Given the description of an element on the screen output the (x, y) to click on. 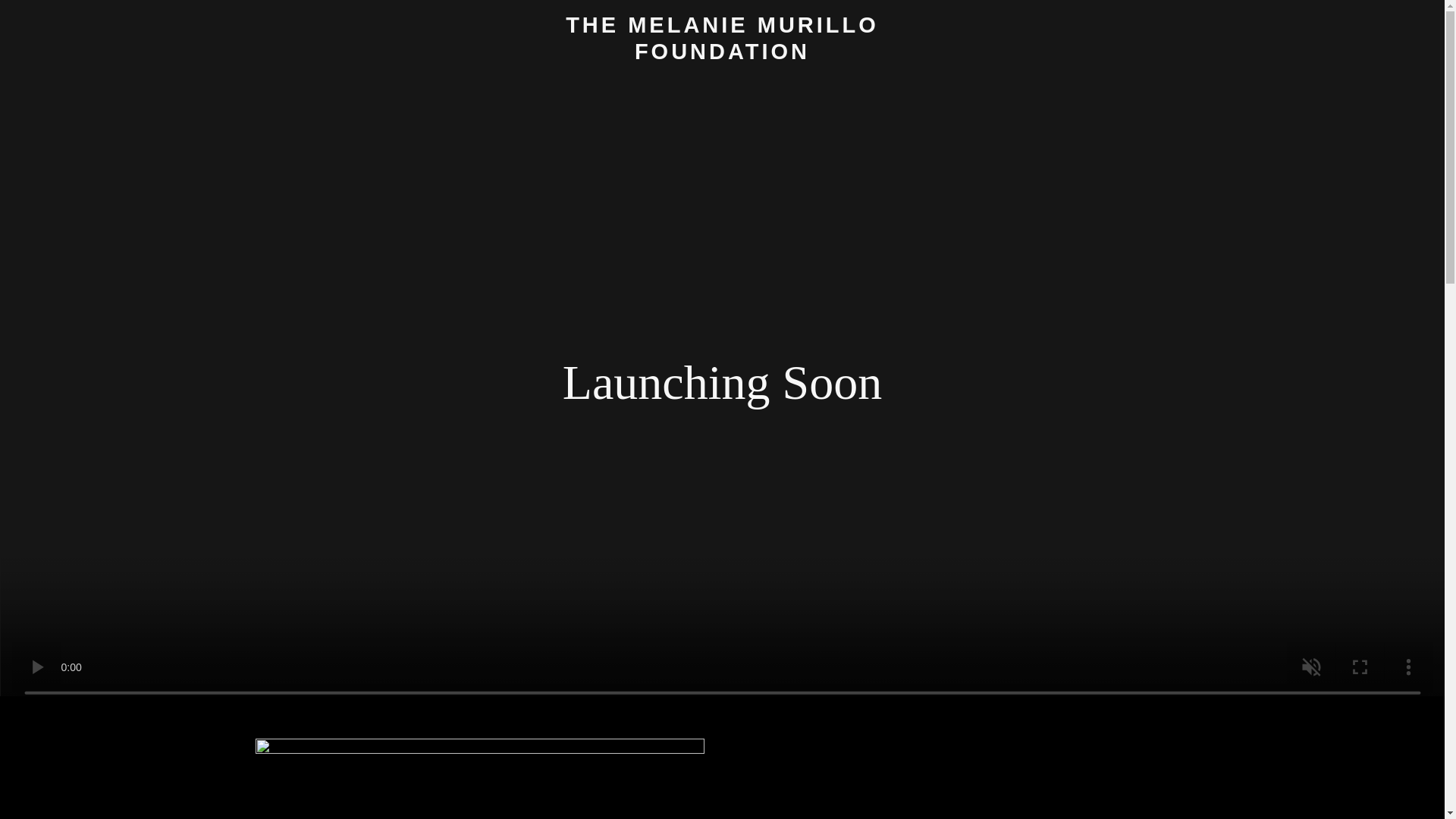
THE MELANIE MURILLO FOUNDATION (721, 54)
The Melanie Murillo Foundation (721, 54)
